Given the description of an element on the screen output the (x, y) to click on. 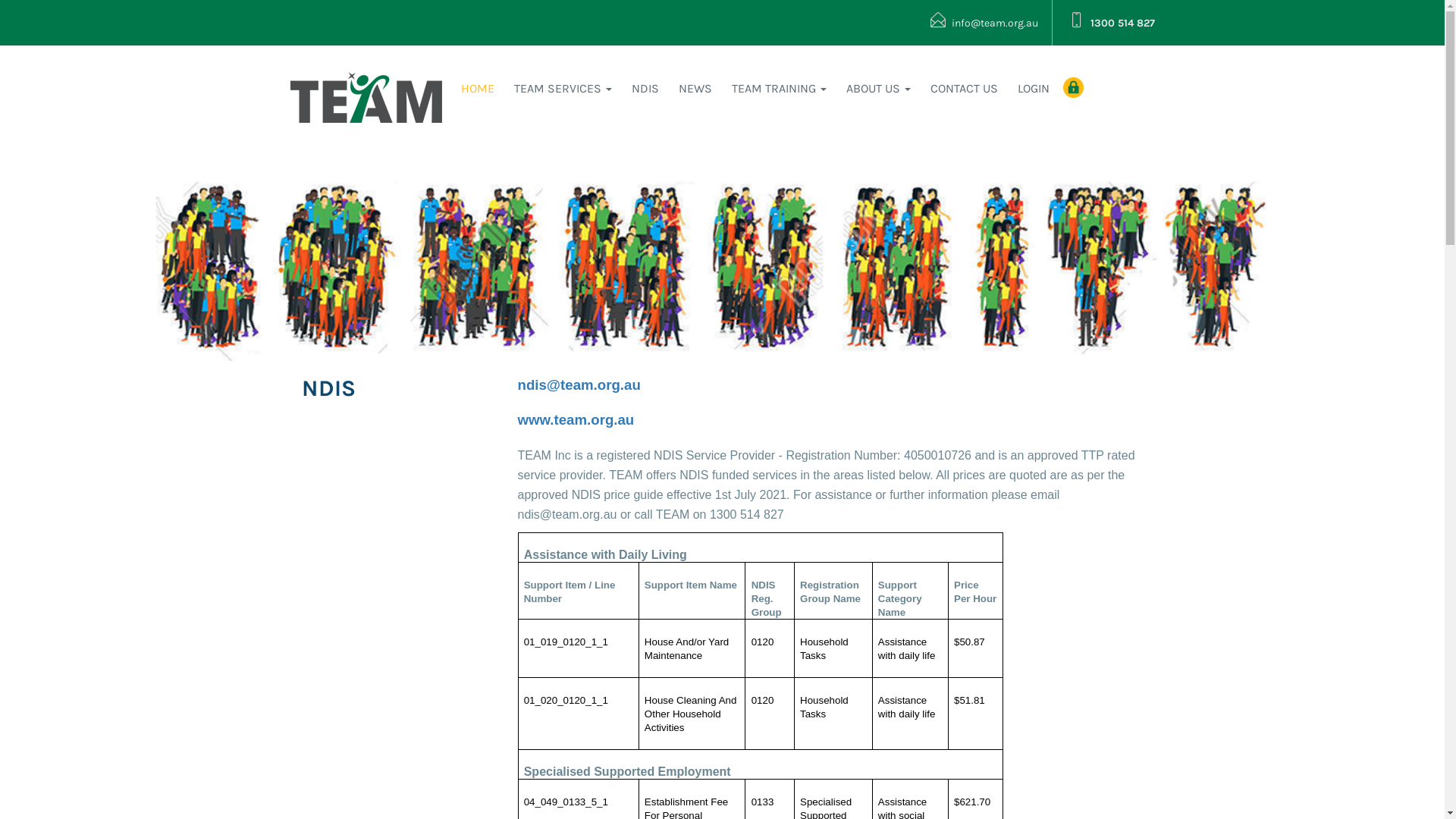
TEAM TRAINING Element type: text (778, 88)
1300 514 827 Element type: text (1111, 22)
www.team.org.au Element type: text (575, 420)
ABOUT US Element type: text (878, 88)
TEAM SERVICES Element type: text (562, 88)
community login Element type: hover (1073, 87)
LOGIN Element type: text (1033, 88)
info@team.org.au Element type: text (979, 22)
ndis@team.org.au Element type: text (578, 385)
CONTACT US Element type: text (963, 88)
NEWS Element type: text (694, 88)
HOME Element type: text (477, 88)
NDIS Element type: text (644, 88)
